Given the description of an element on the screen output the (x, y) to click on. 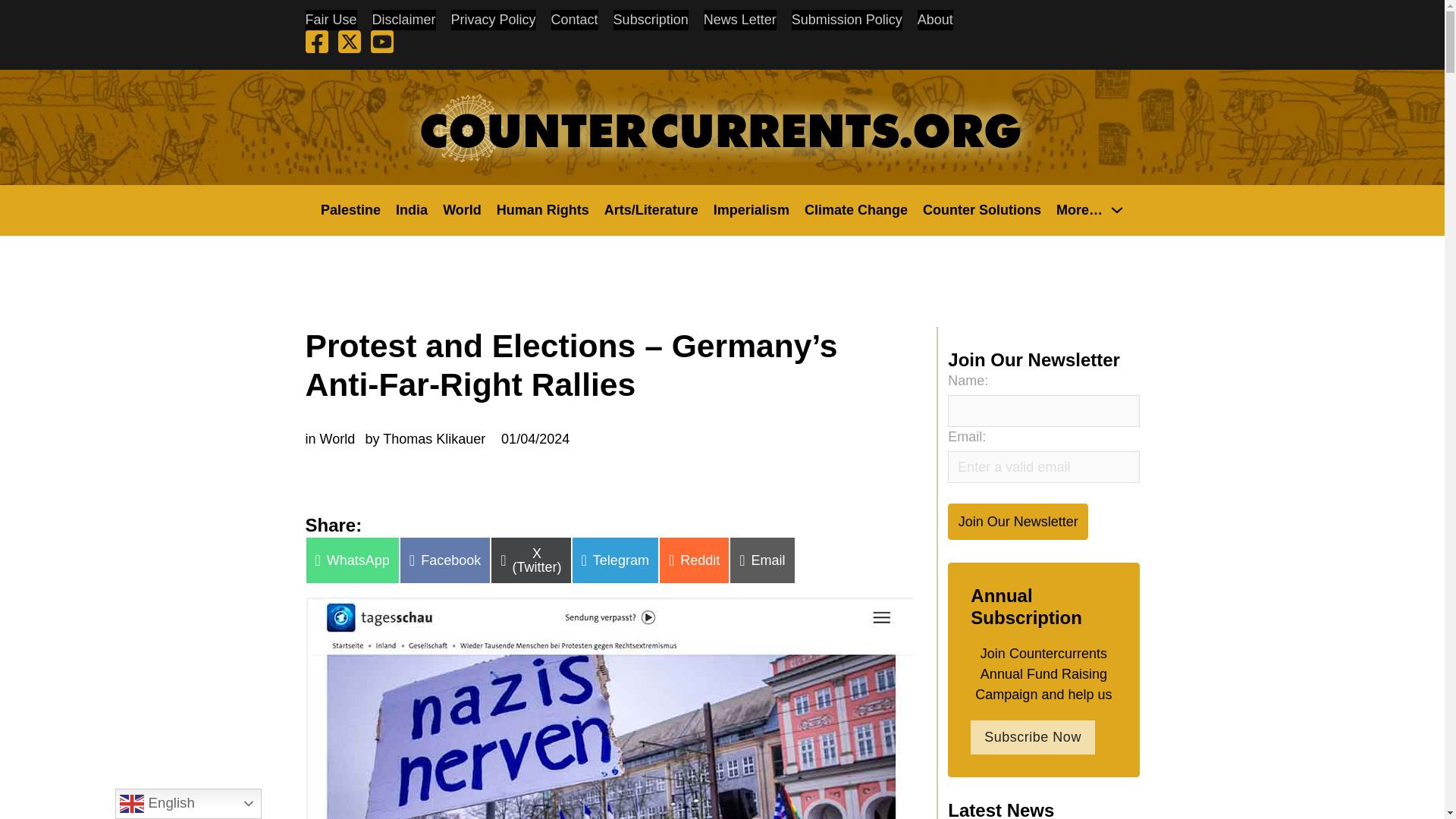
Subscription (650, 19)
Contact (574, 19)
Privacy Policy (493, 19)
News Letter (739, 19)
India (412, 209)
About (935, 19)
Disclaimer (403, 19)
Human Rights (542, 209)
Fair Use (330, 19)
Palestine (350, 209)
